Given the description of an element on the screen output the (x, y) to click on. 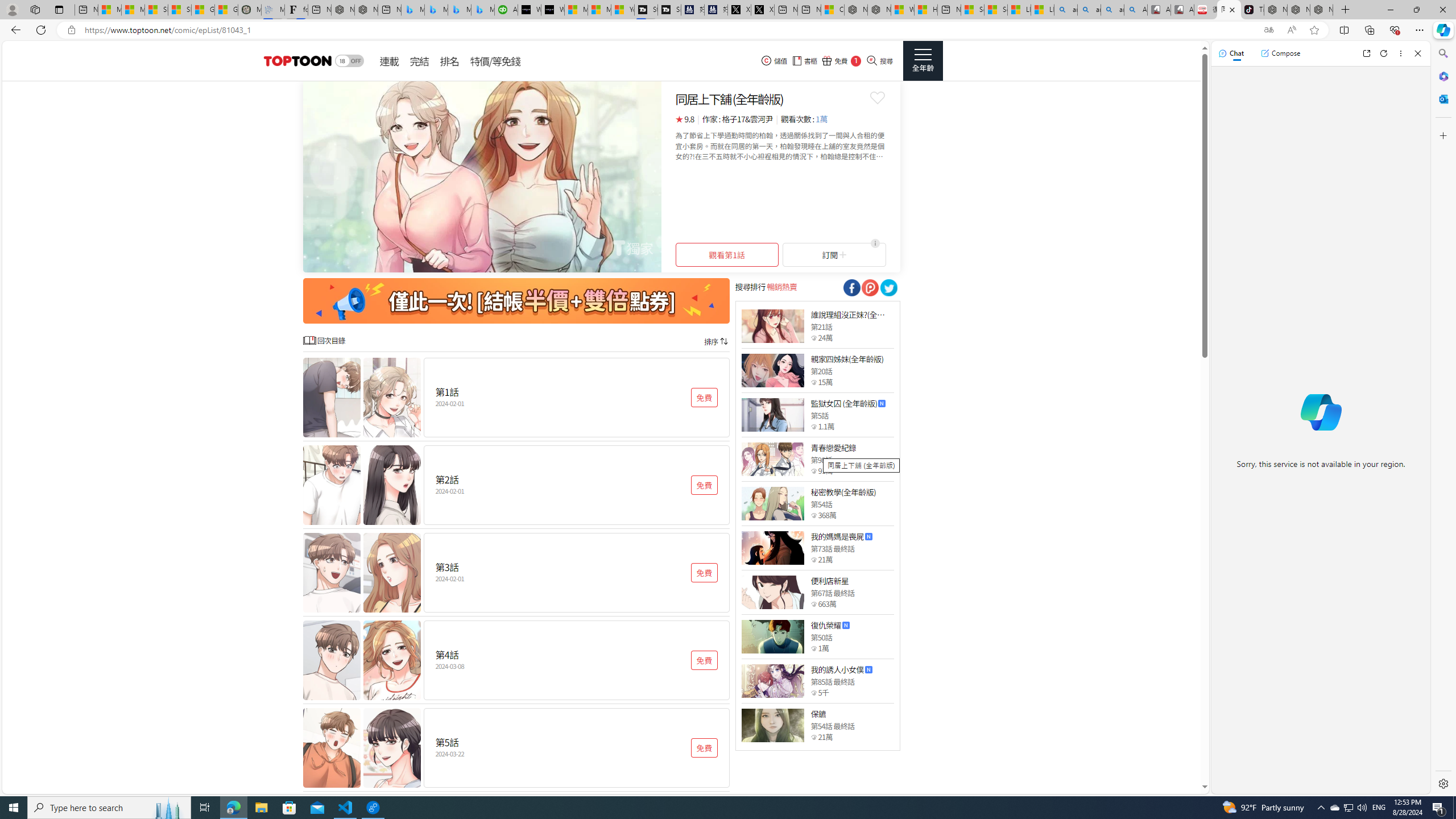
header (295, 60)
Open link in new tab (1366, 53)
Compose (1280, 52)
